Given the description of an element on the screen output the (x, y) to click on. 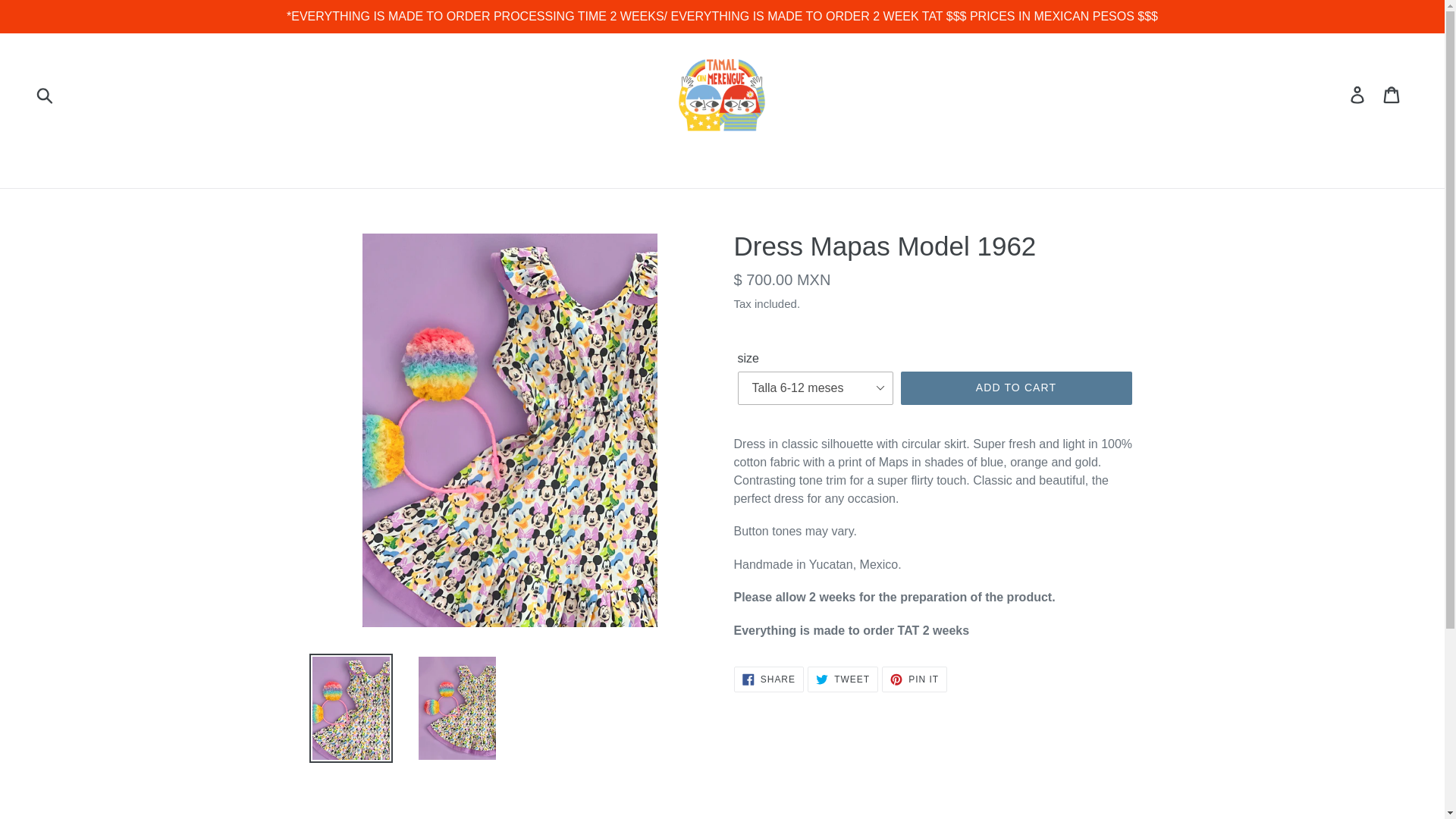
Submit (45, 94)
Get into (1357, 94)
ADD TO CART (768, 679)
Trolley (1016, 387)
